Given the description of an element on the screen output the (x, y) to click on. 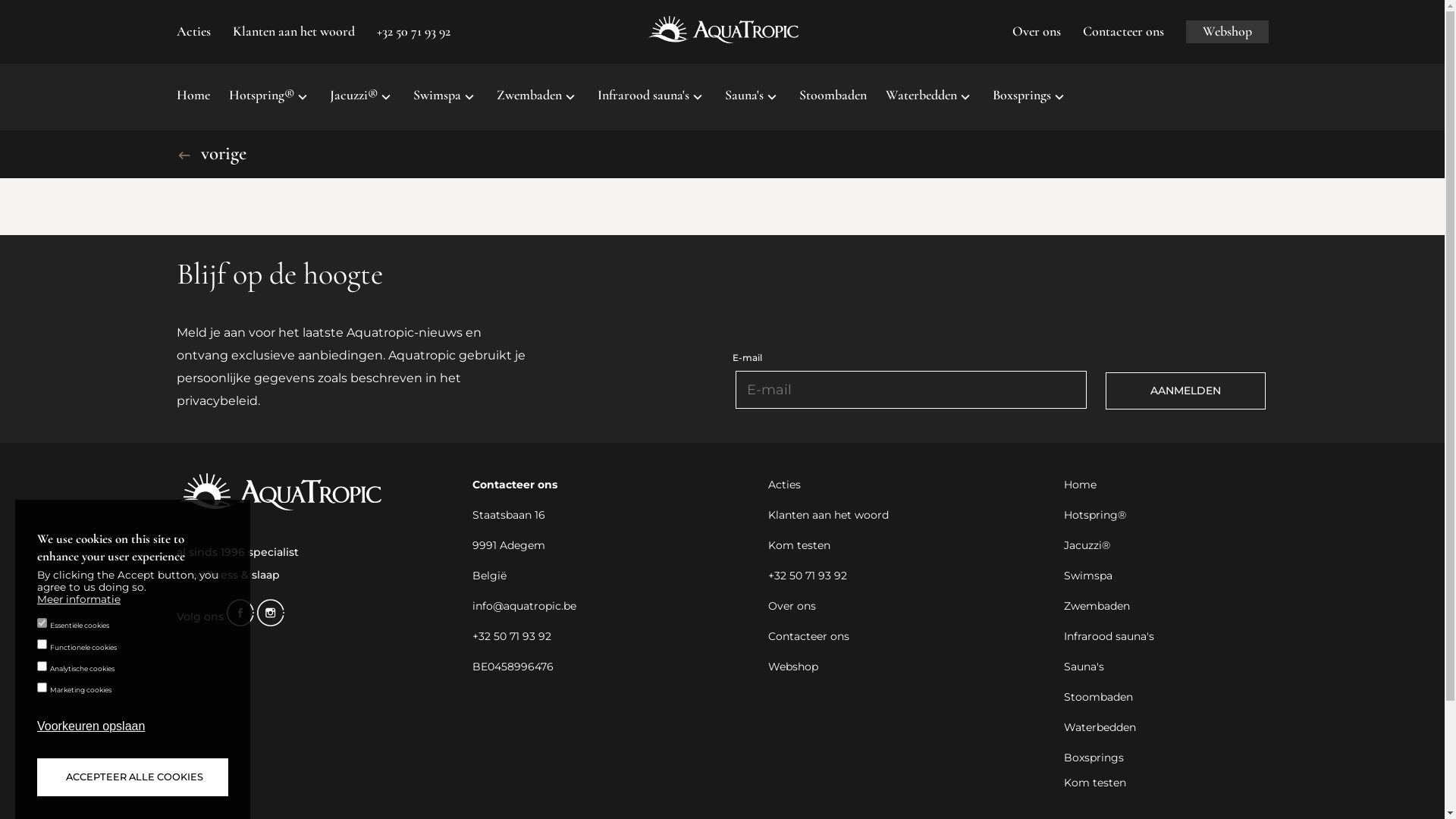
Acties Element type: text (192, 31)
Contacteer ons Element type: text (807, 636)
Meer informatie Element type: text (78, 599)
Stoombaden Element type: text (832, 96)
Waterbedden Element type: text (1099, 727)
Sauna's
expand_more Element type: text (752, 96)
info@aquatropic.be Element type: text (523, 606)
keyboard_backspace  vorige Element type: text (210, 152)
Over ons Element type: text (791, 606)
Stoombaden Element type: text (1097, 697)
Kom testen Element type: text (798, 545)
ACCEPTEER ALLE COOKIES Element type: text (132, 777)
+32 50 71 93 92 Element type: text (412, 31)
Infrarood sauna's
expand_more Element type: text (651, 96)
Kom testen Element type: text (1094, 782)
Waterbedden
expand_more Element type: text (929, 96)
Klanten aan het woord Element type: text (293, 31)
Sauna's Element type: text (1083, 666)
Infrarood sauna's Element type: text (1108, 636)
Voorkeuren opslaan Element type: text (90, 726)
Over ons Element type: text (1035, 31)
Zwembaden Element type: text (1096, 606)
+32 50 71 93 92 Element type: text (510, 636)
+32 50 71 93 92 Element type: text (806, 575)
Boxsprings
expand_more Element type: text (1028, 96)
Home Element type: text (192, 96)
Home Element type: text (1079, 484)
Webshop Element type: text (1227, 31)
Swimspa
expand_more Element type: text (444, 96)
Webshop Element type: text (792, 666)
Klanten aan het woord Element type: text (827, 515)
Aanmelden Element type: text (1185, 391)
Overslaan en naar de inhoud gaan Element type: text (0, 0)
Contacteer ons Element type: text (1123, 31)
Boxsprings Element type: text (1093, 757)
Swimspa Element type: text (1087, 575)
Acties Element type: text (783, 484)
Zwembaden
expand_more Element type: text (536, 96)
